Given the description of an element on the screen output the (x, y) to click on. 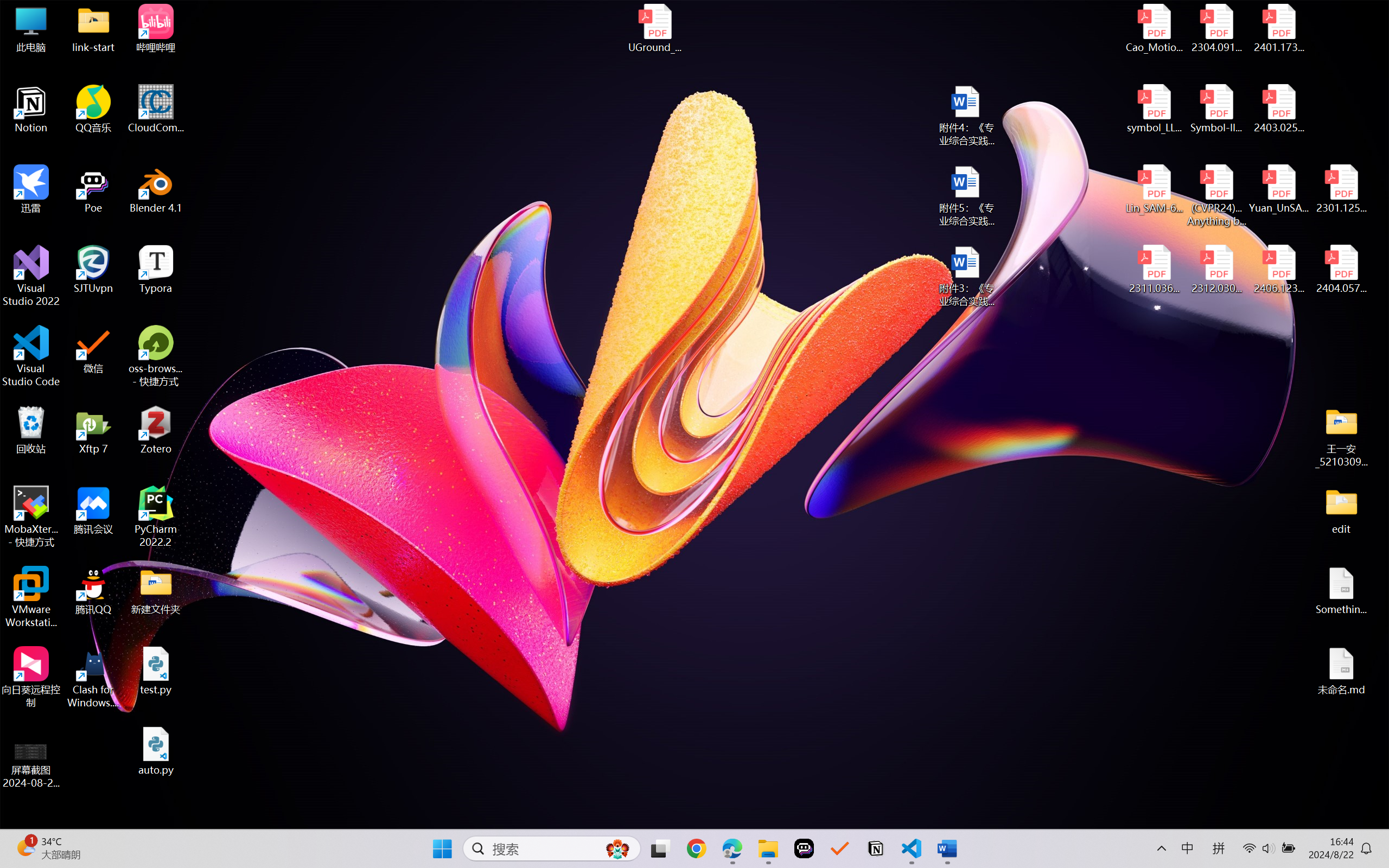
Visual Studio 2022 (31, 276)
Xftp 7 (93, 430)
auto.py (156, 751)
Typora (156, 269)
